Given the description of an element on the screen output the (x, y) to click on. 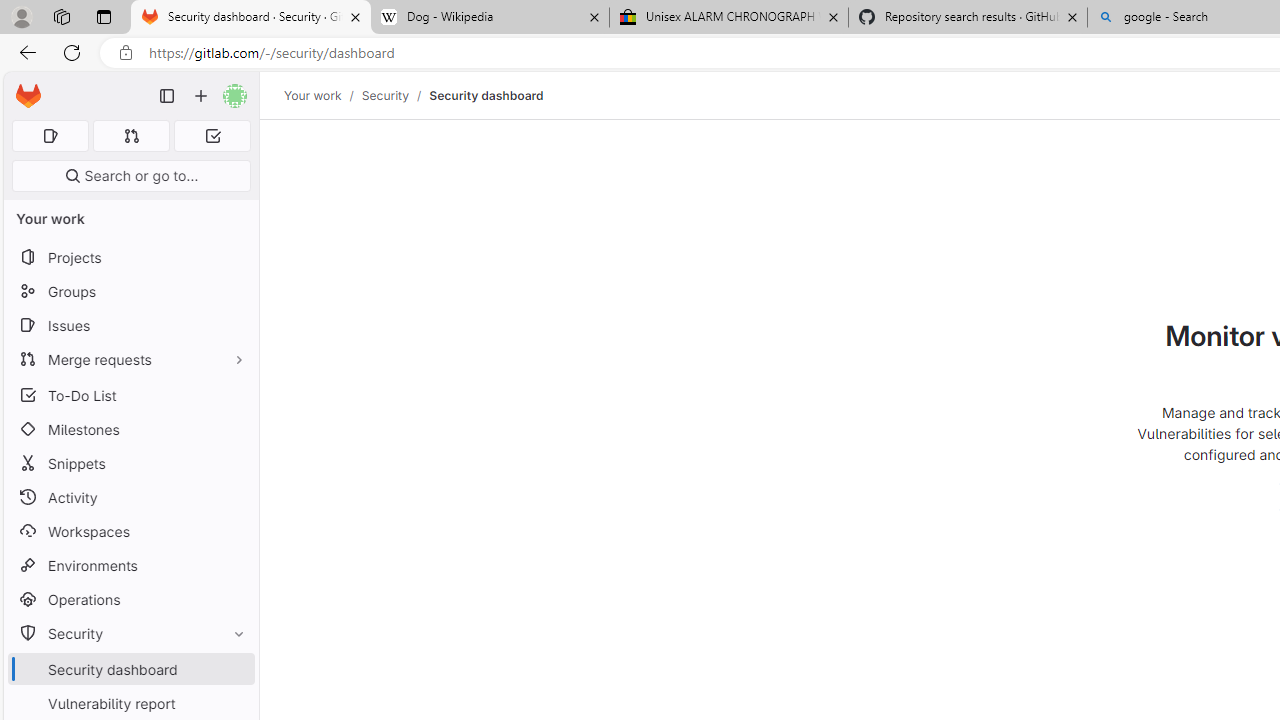
Merge requests (130, 358)
To-Do List (130, 394)
Security dashboard (486, 95)
Projects (130, 257)
Security (130, 633)
To-Do List (130, 394)
